Given the description of an element on the screen output the (x, y) to click on. 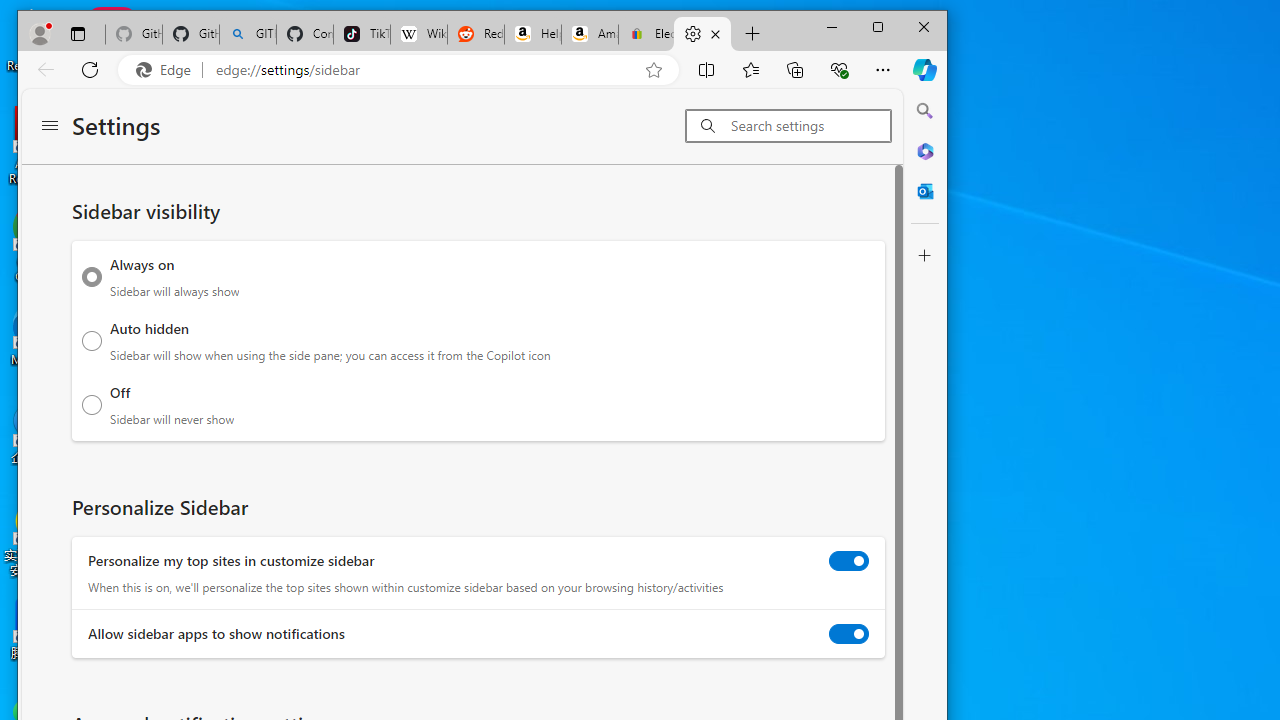
Allow sidebar apps to show notifications (849, 633)
Wikipedia, the free encyclopedia (418, 34)
